Given the description of an element on the screen output the (x, y) to click on. 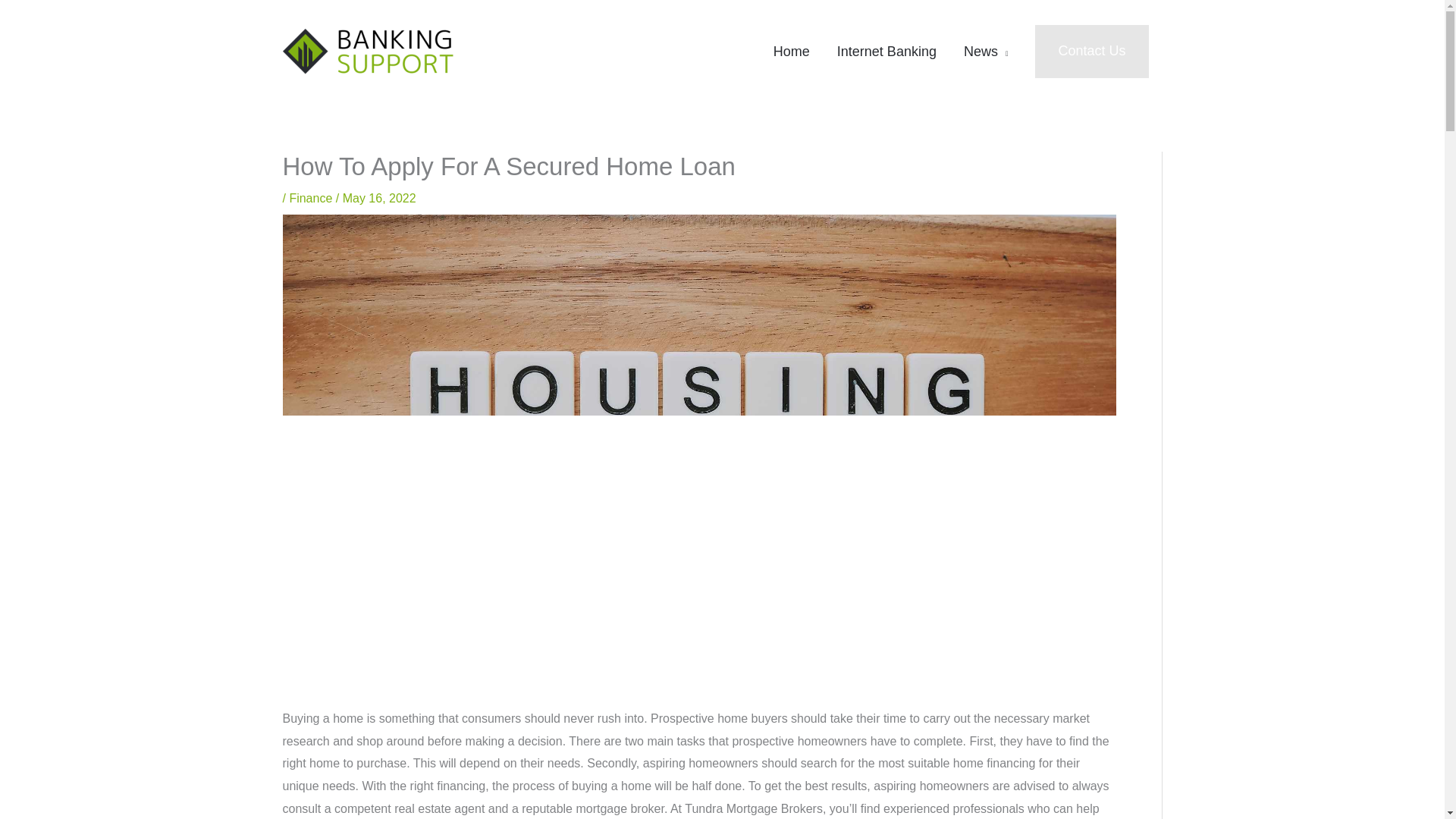
Finance (309, 197)
Internet Banking (887, 51)
Contact Us (1091, 50)
News (986, 51)
